Given the description of an element on the screen output the (x, y) to click on. 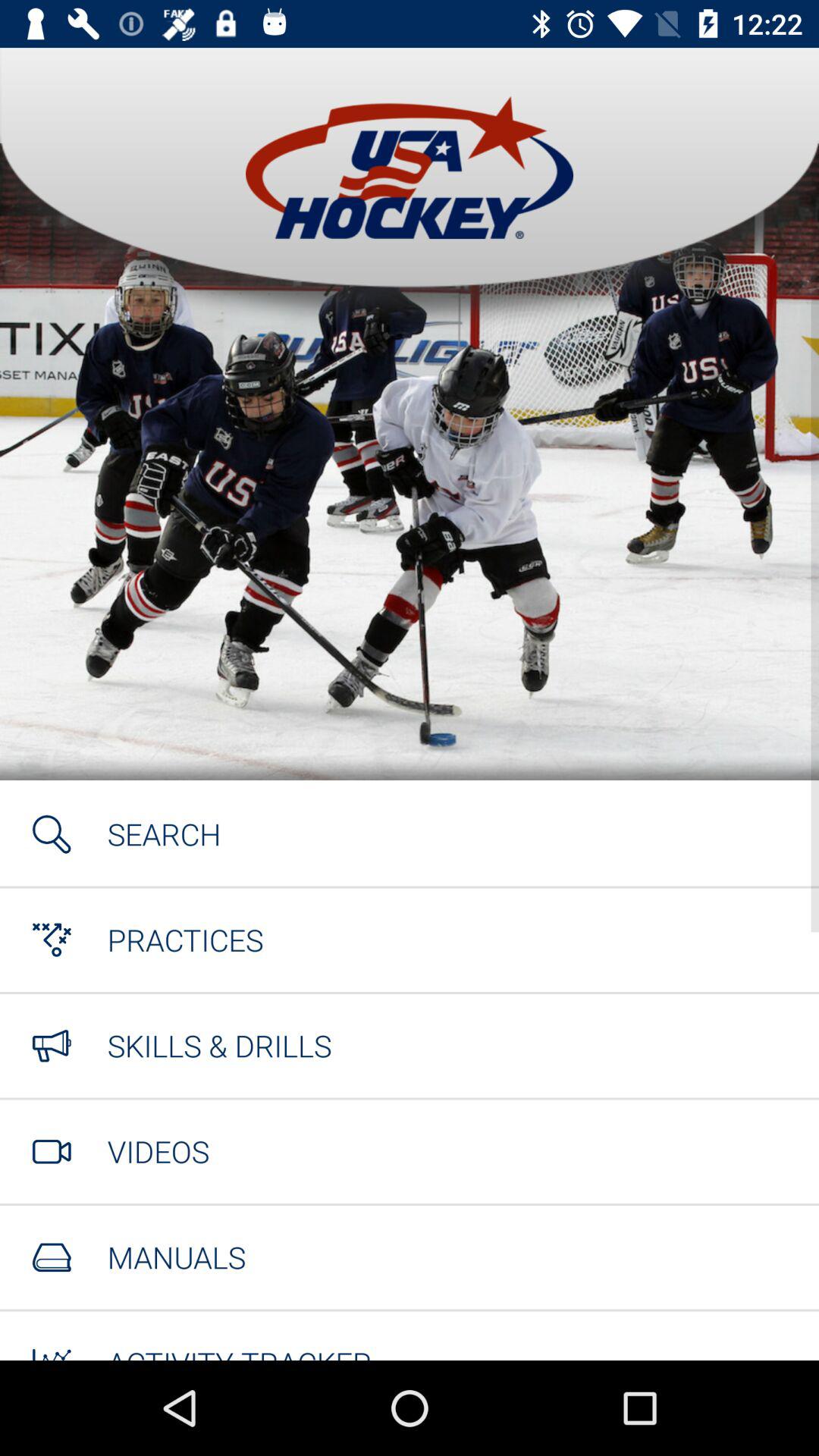
select the search item (164, 833)
